Given the description of an element on the screen output the (x, y) to click on. 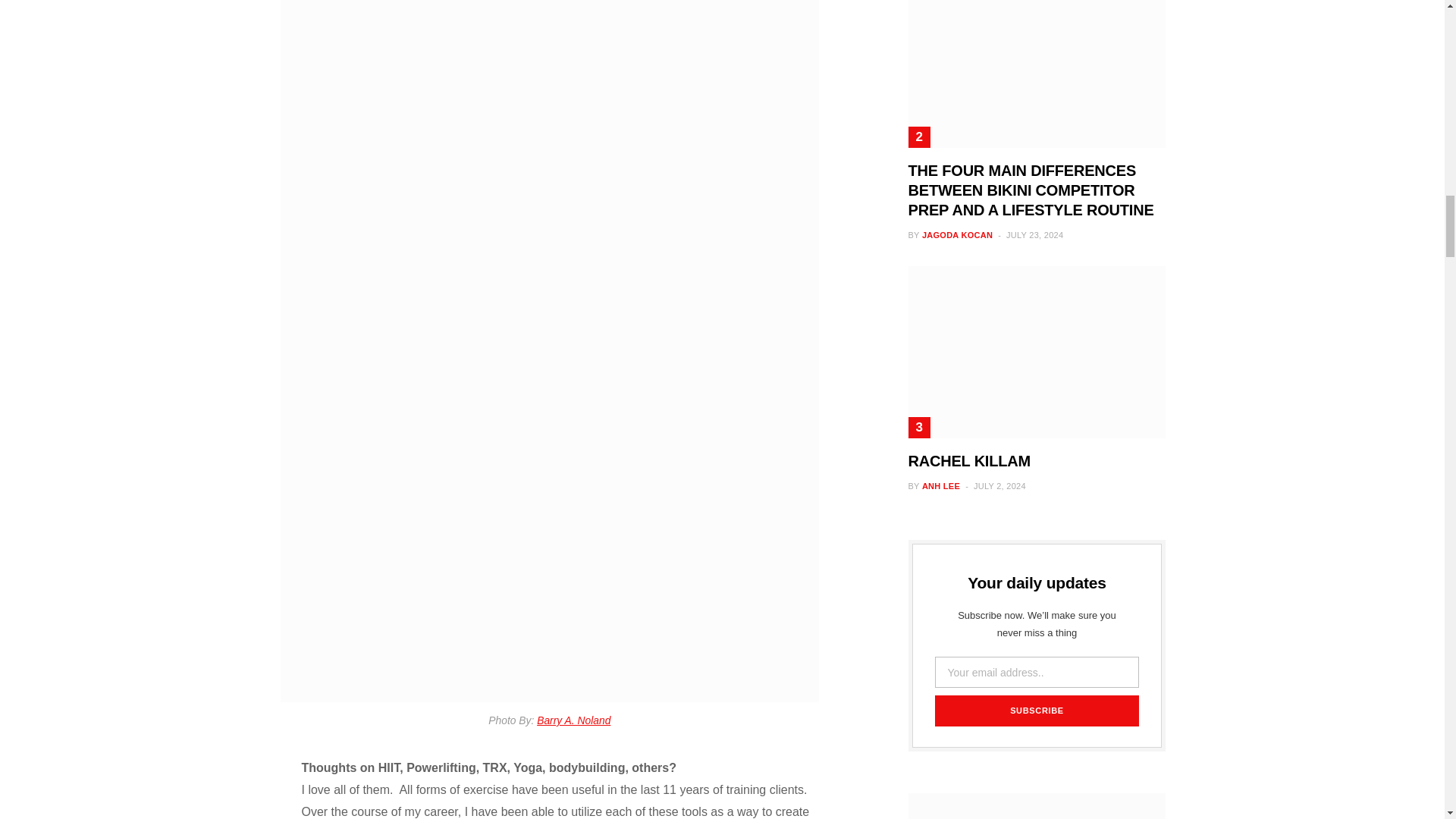
Subscribe (1036, 710)
